Given the description of an element on the screen output the (x, y) to click on. 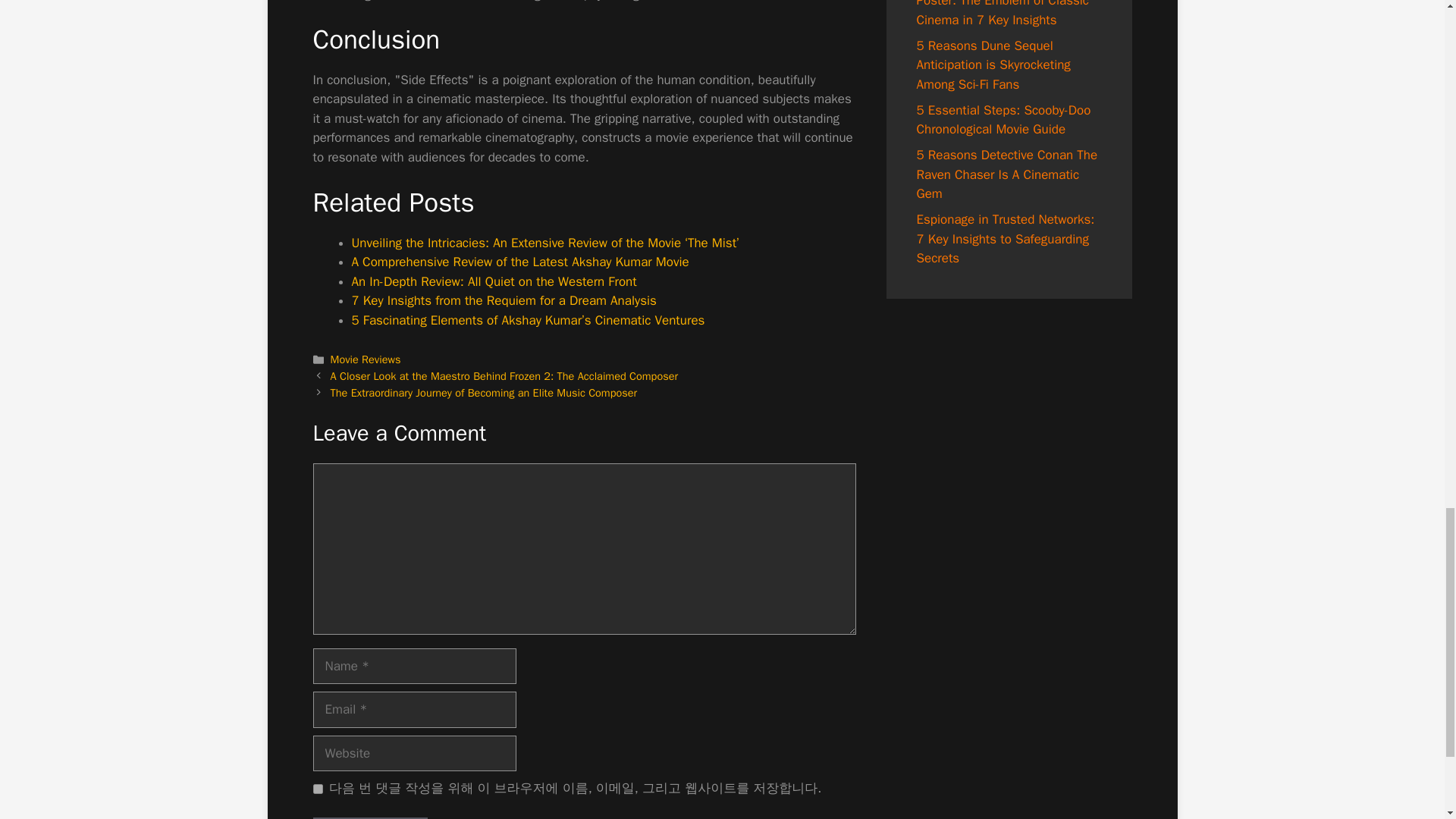
Post Comment (369, 818)
Post Comment (369, 818)
A Comprehensive Review of the Latest Akshay Kumar Movie (520, 261)
yes (317, 788)
7 Key Insights from the Requiem for a Dream Analysis (504, 300)
Movie Reviews (365, 359)
An In-Depth Review: All Quiet on the Western Front (494, 281)
